Given the description of an element on the screen output the (x, y) to click on. 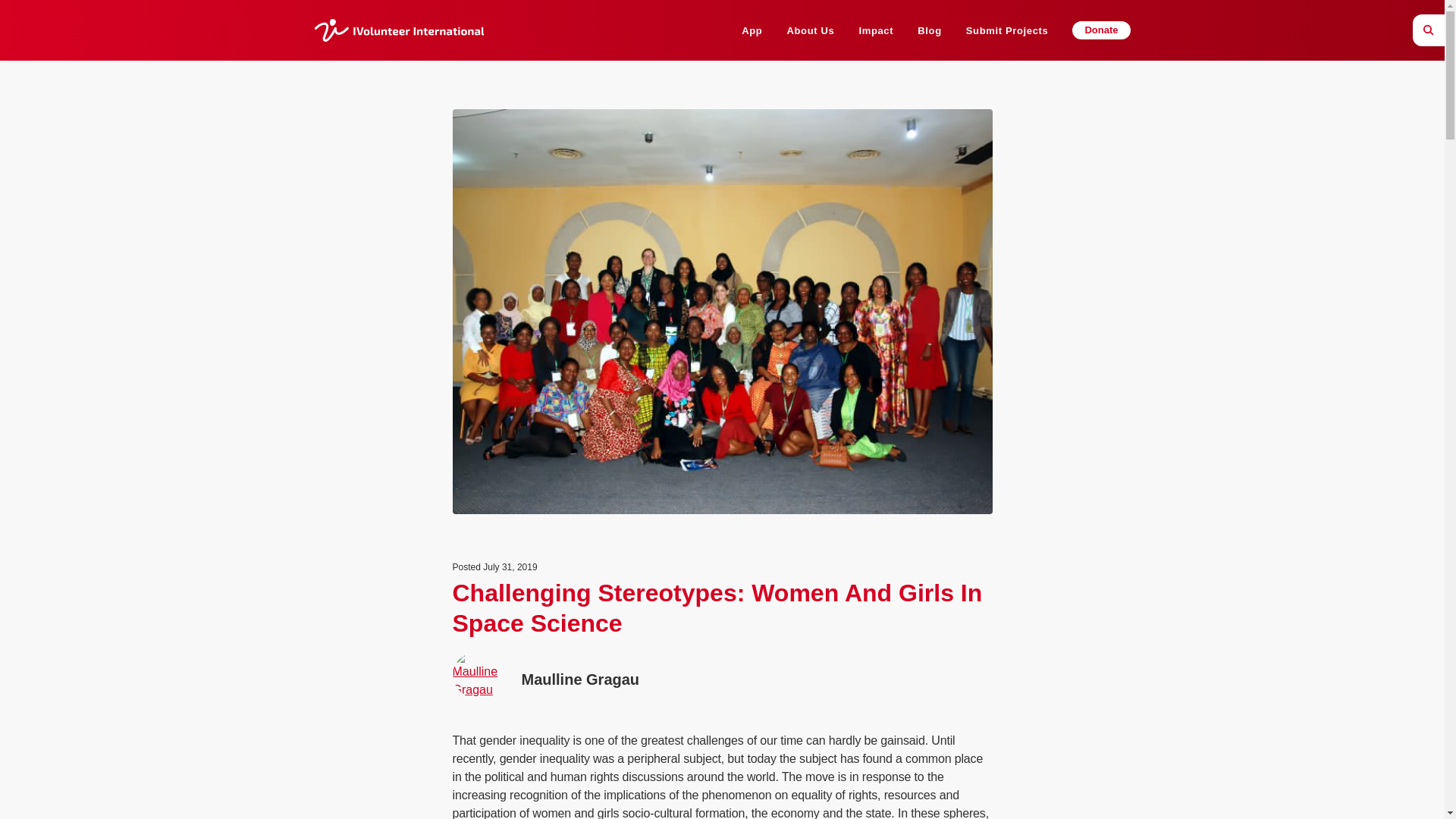
App (751, 30)
About Us (810, 30)
Blog (928, 30)
July 31, 2019 (510, 566)
Donate (1100, 30)
Maulline Gragau (618, 679)
Submit Projects (1007, 30)
Impact (876, 30)
